Given the description of an element on the screen output the (x, y) to click on. 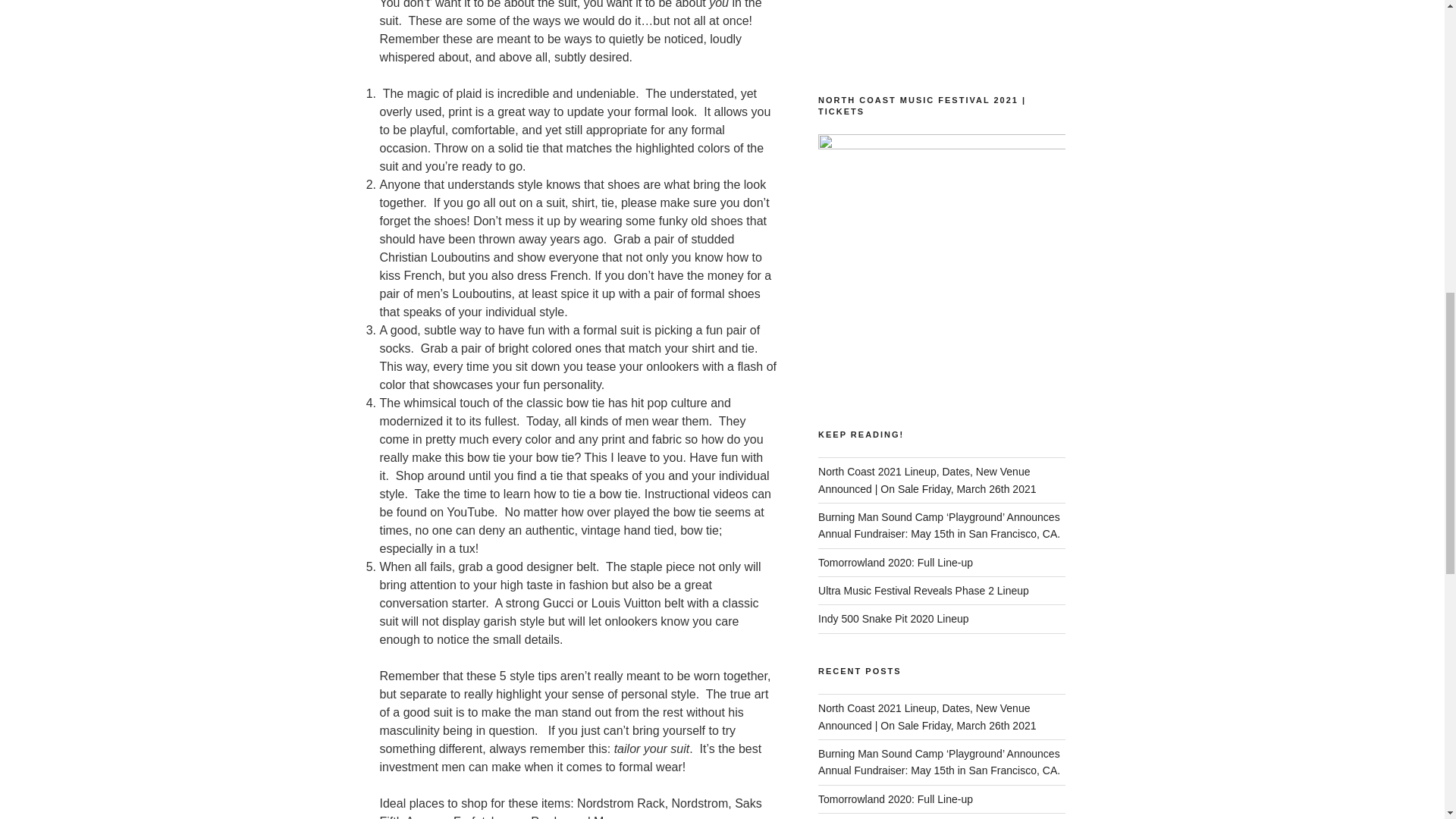
Indy 500 Snake Pit 2020 Lineup (893, 618)
Ultra Music Festival Reveals Phase 2 Lineup (923, 590)
Tomorrowland 2020: Full Line-up (895, 562)
